Given the description of an element on the screen output the (x, y) to click on. 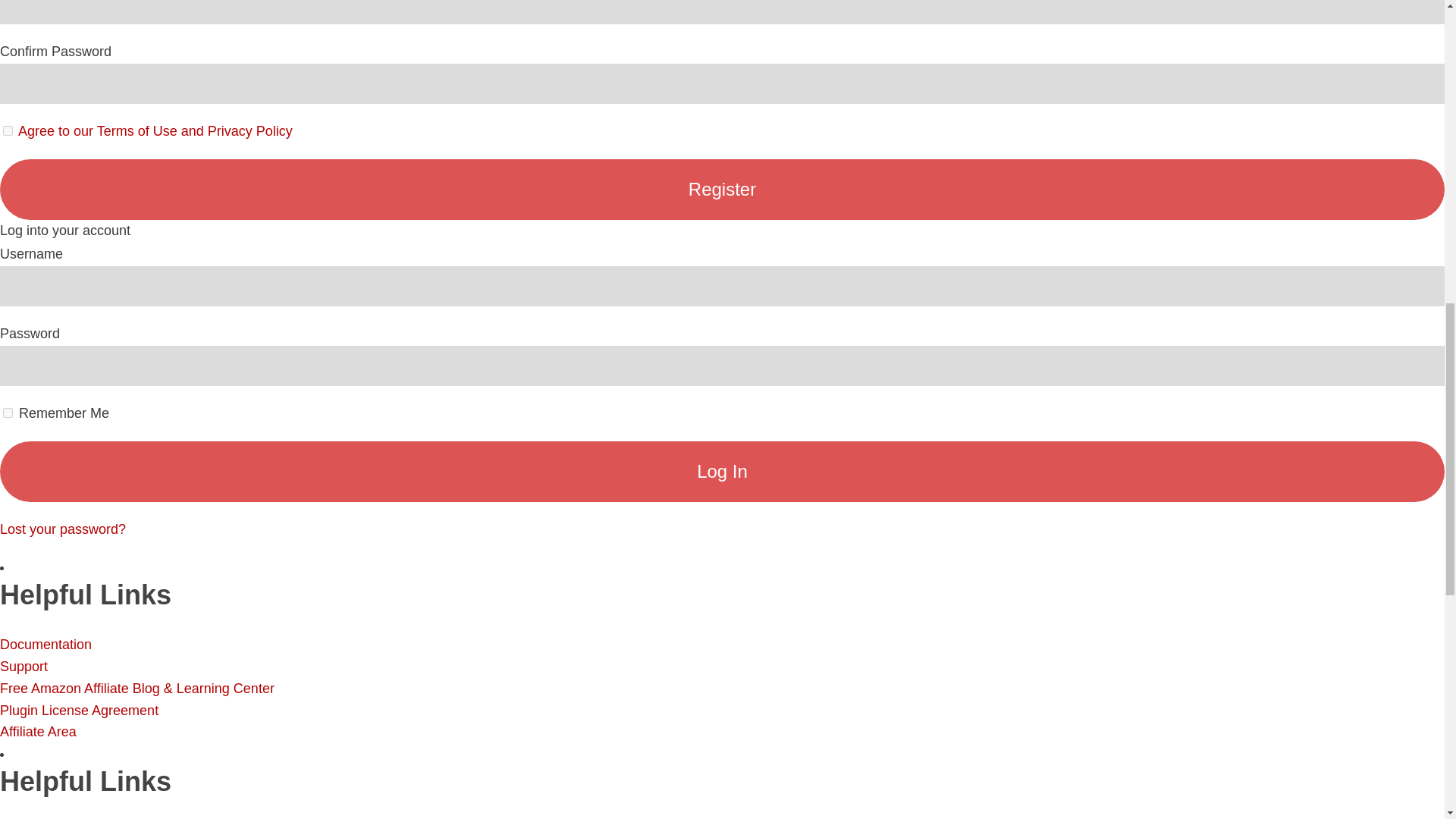
Affiliate Area (38, 731)
Plugin License Agreement (79, 710)
on (7, 130)
Lost your password? (62, 529)
1 (7, 412)
Agree to our Terms of Use and Privacy Policy (154, 130)
Support (24, 666)
Documentation (45, 644)
